Given the description of an element on the screen output the (x, y) to click on. 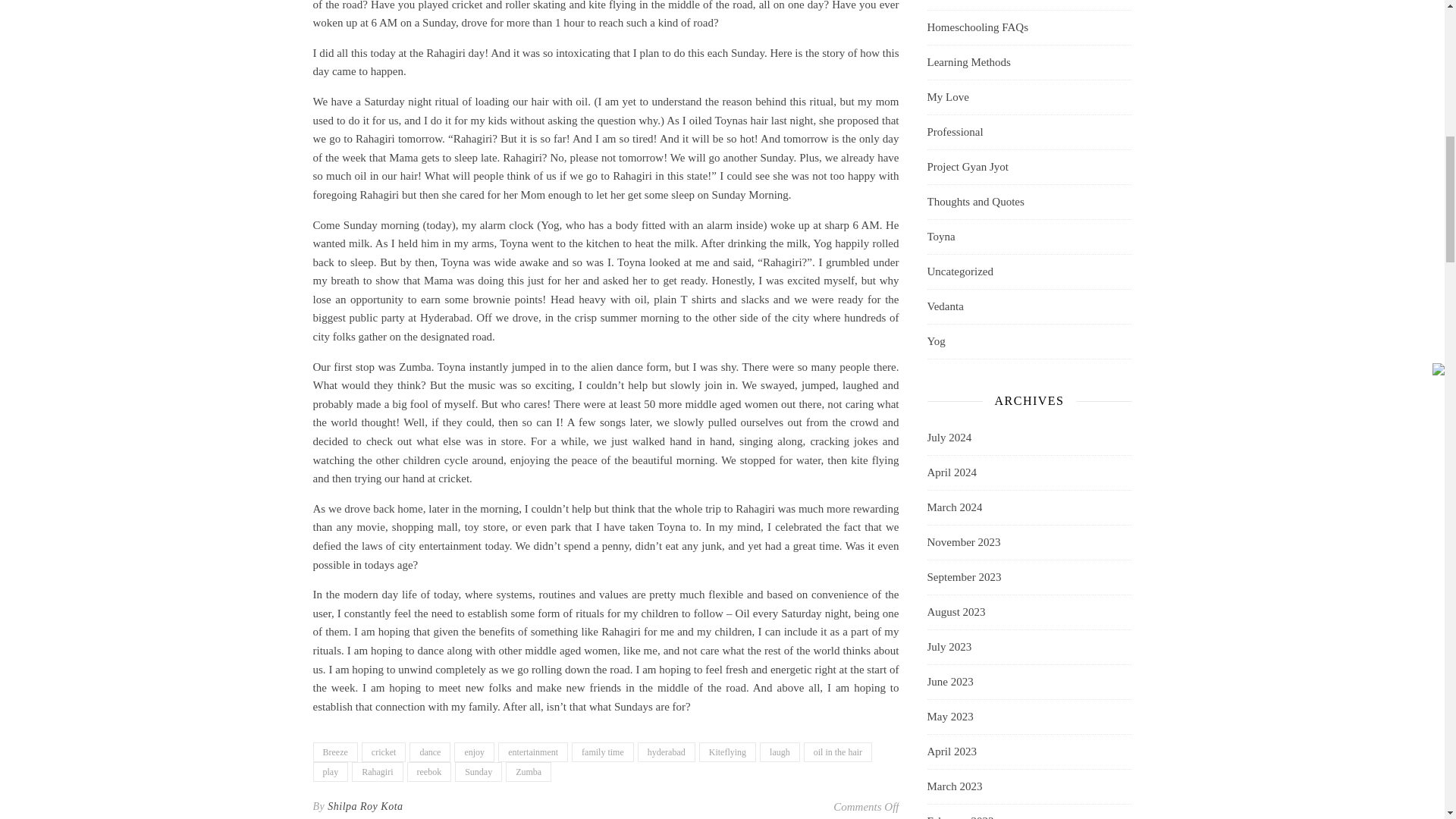
laugh (779, 752)
family time (602, 752)
enjoy (474, 752)
hyderabad (666, 752)
Kiteflying (726, 752)
Zumba (528, 772)
cricket (383, 752)
Posts by Shilpa Roy Kota (365, 806)
oil in the hair (837, 752)
Breeze (334, 752)
